Given the description of an element on the screen output the (x, y) to click on. 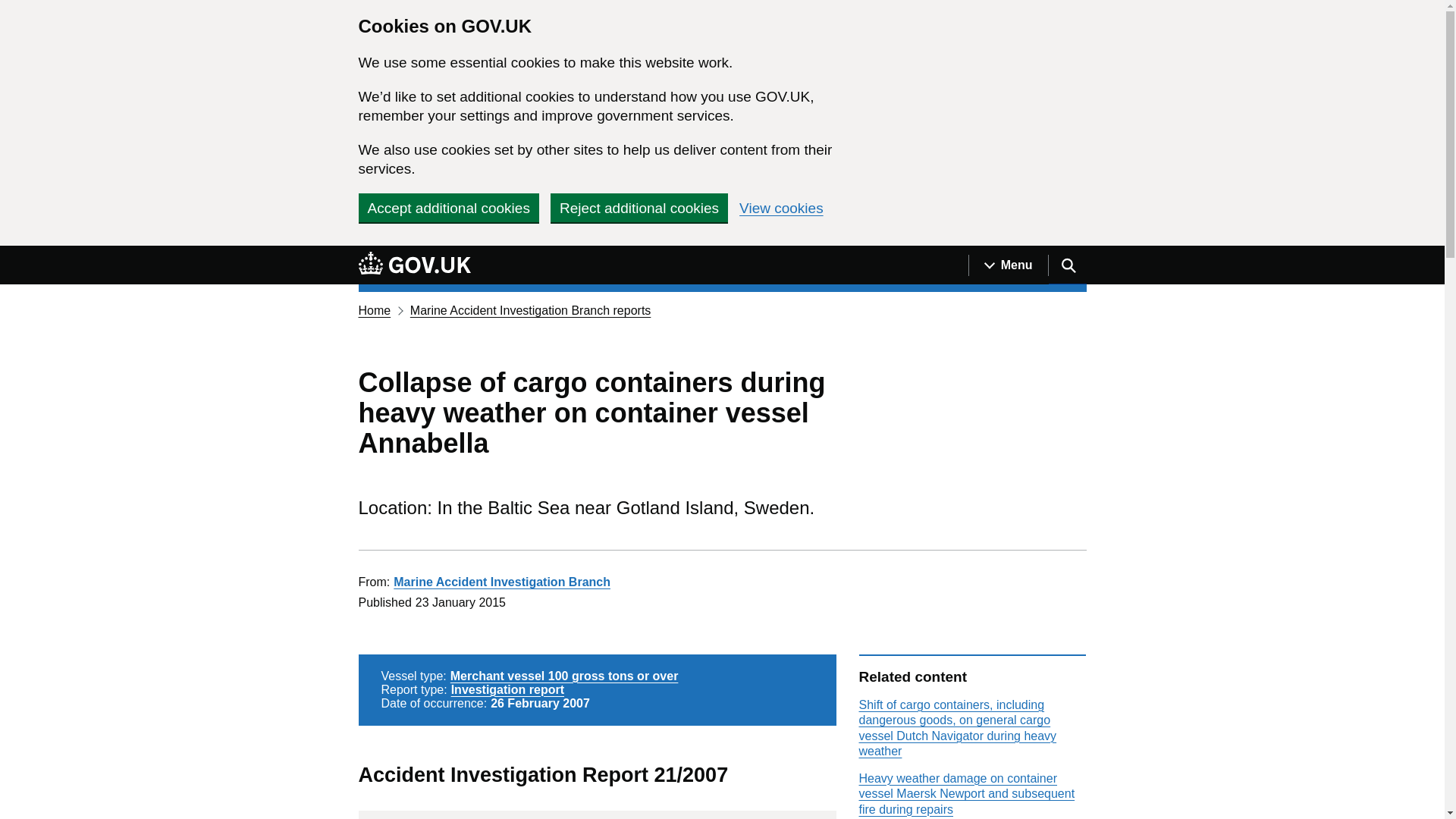
Investigation report (507, 689)
Reject additional cookies (639, 207)
Accept additional cookies (448, 207)
Merchant vessel 100 gross tons or over (563, 675)
Marine Accident Investigation Branch reports (530, 309)
Marine Accident Investigation Branch (501, 581)
Home (374, 309)
GOV.UK (414, 262)
